Given the description of an element on the screen output the (x, y) to click on. 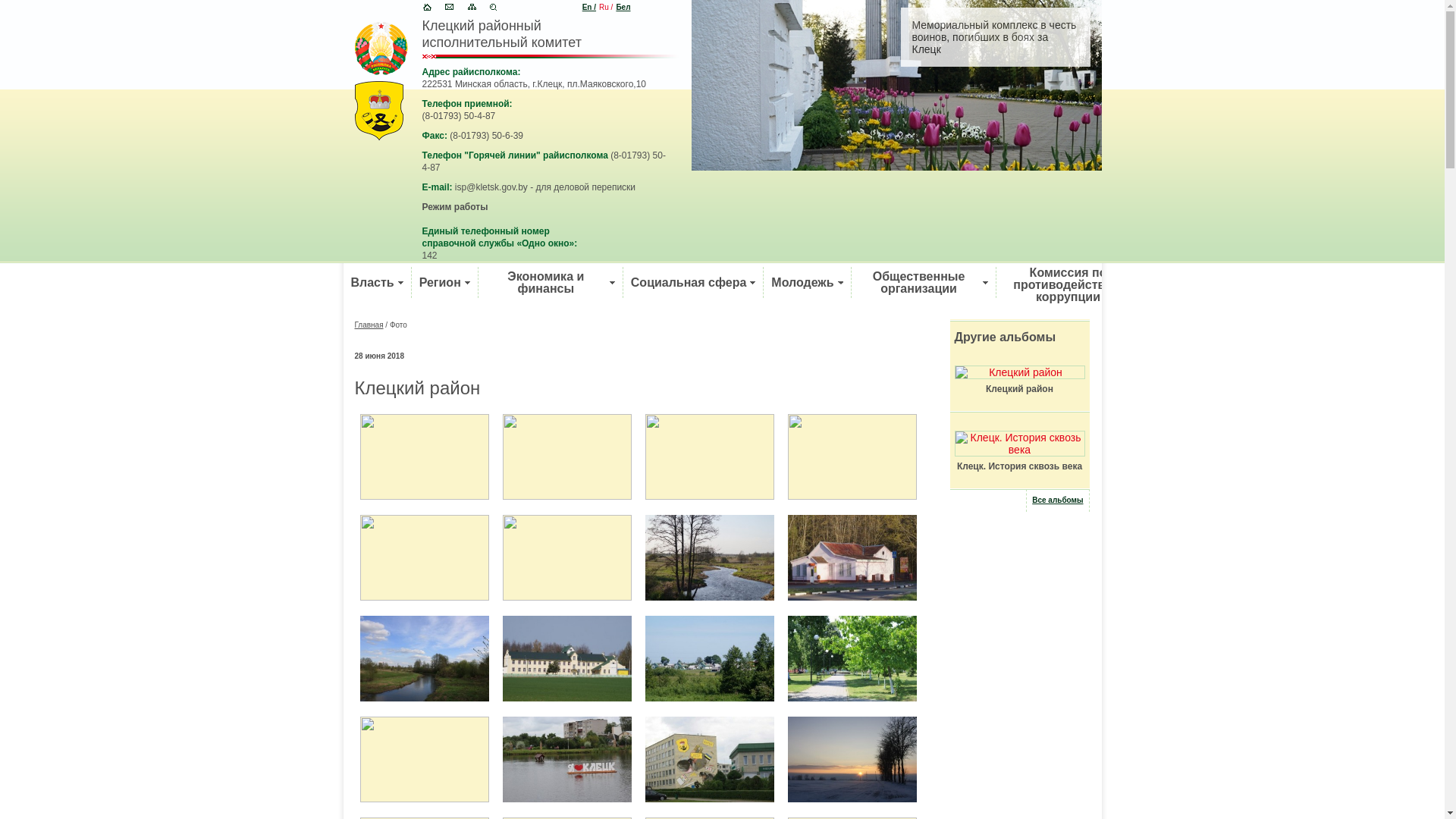
En / Element type: text (589, 7)
isp@kletsk.gov.by Element type: text (491, 187)
